Given the description of an element on the screen output the (x, y) to click on. 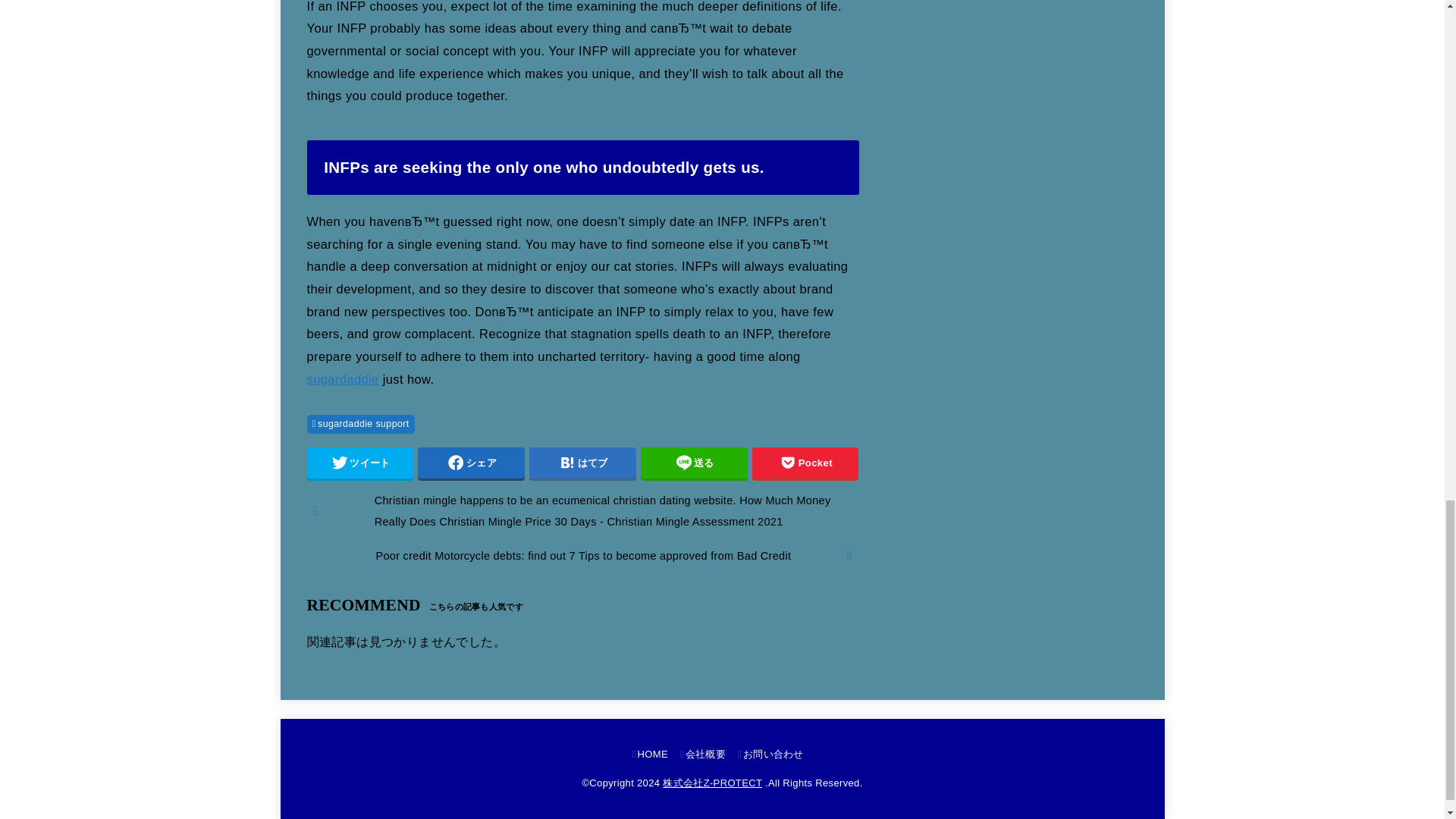
Pocket (805, 463)
HOME (649, 754)
sugardaddie support (359, 423)
sugardaddie (341, 378)
